Given the description of an element on the screen output the (x, y) to click on. 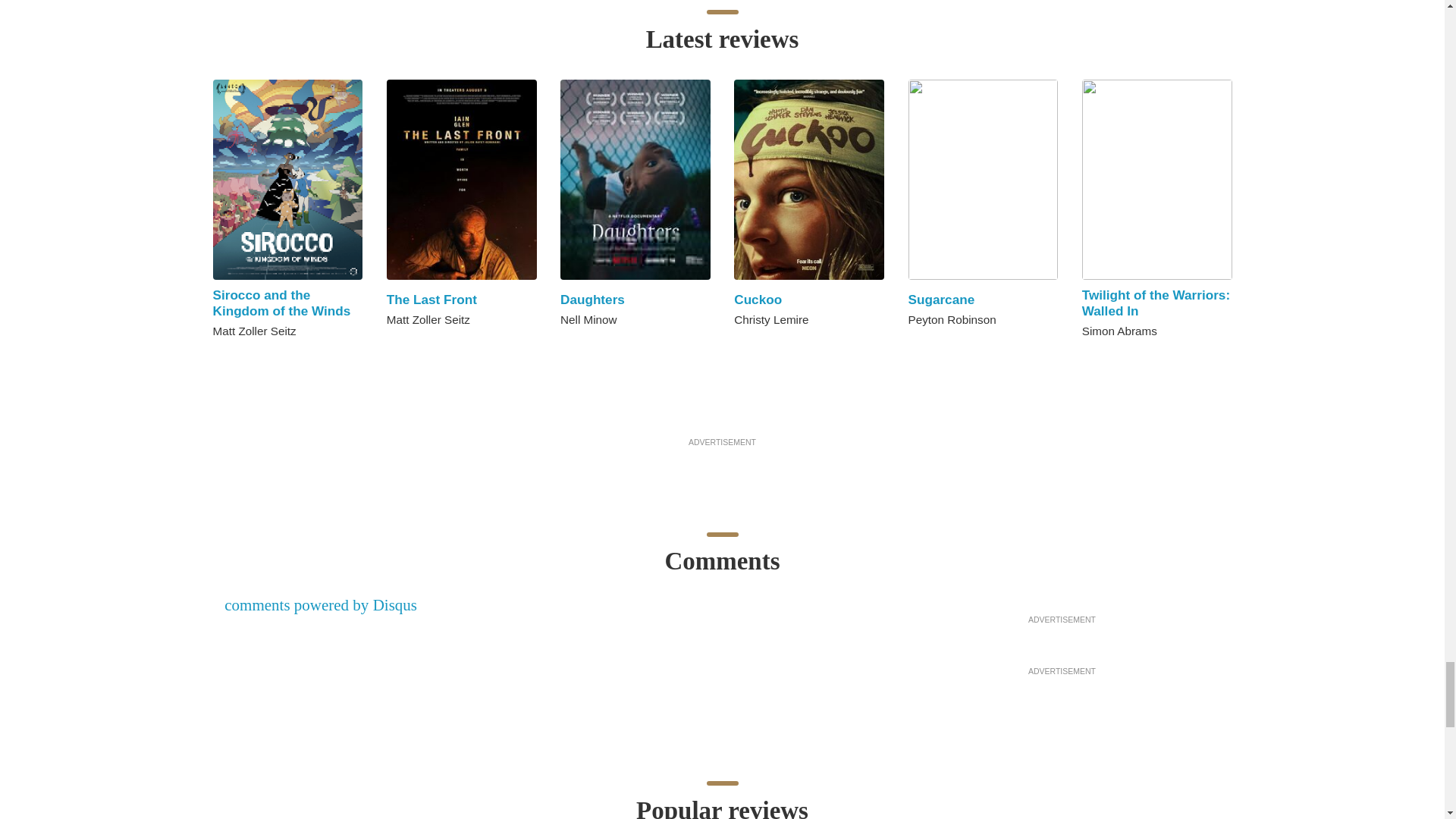
star-full (392, 346)
star-full (408, 346)
star-full (582, 346)
star-full (218, 358)
star-full (566, 346)
star-full (598, 346)
star-full (266, 358)
star-full (250, 358)
star-full (234, 358)
